Given the description of an element on the screen output the (x, y) to click on. 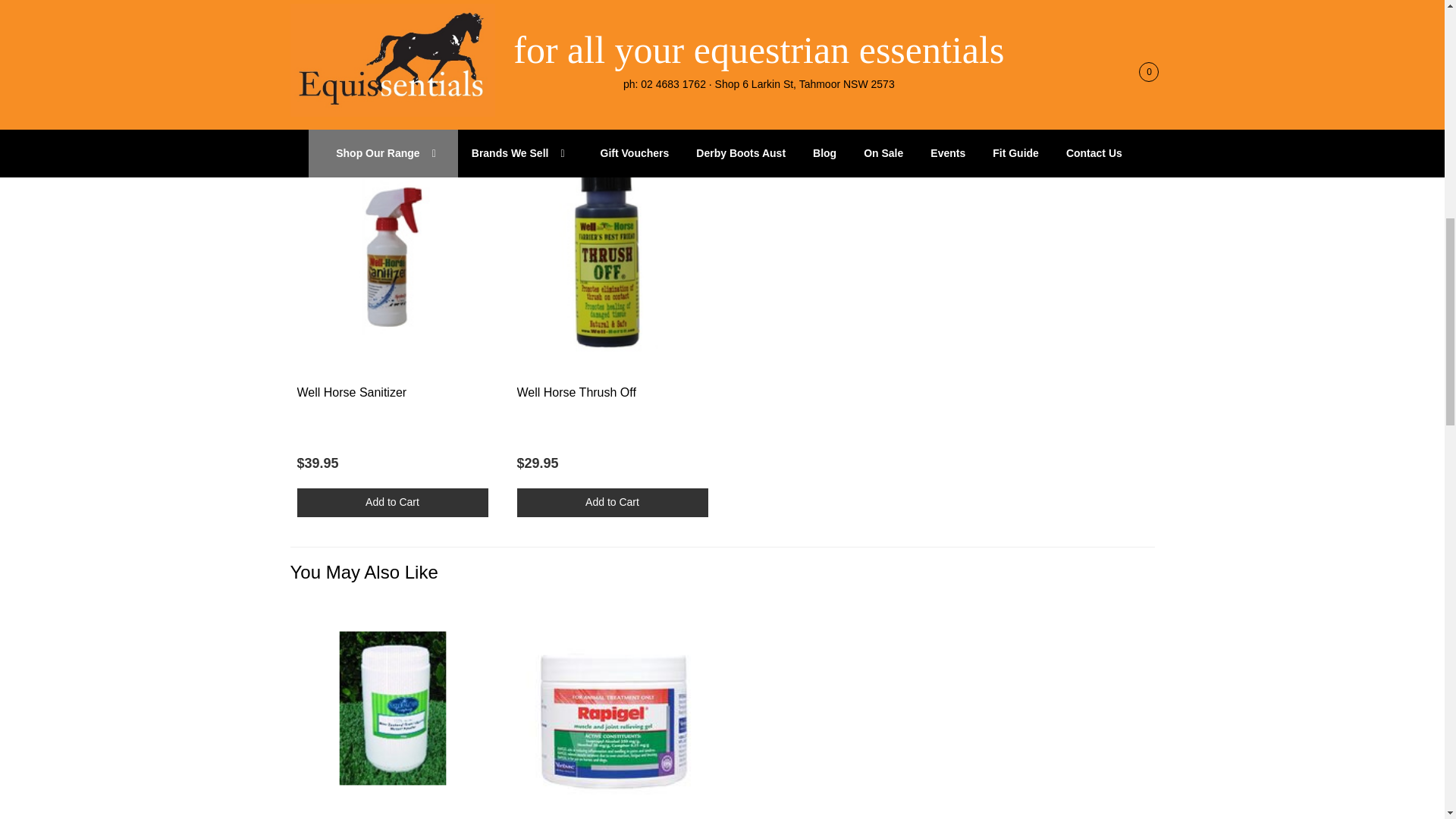
Well Horse Thrush Off (576, 391)
Add to Cart (611, 502)
Well Horse Sanitizer (352, 391)
Add to Cart (392, 502)
